Given the description of an element on the screen output the (x, y) to click on. 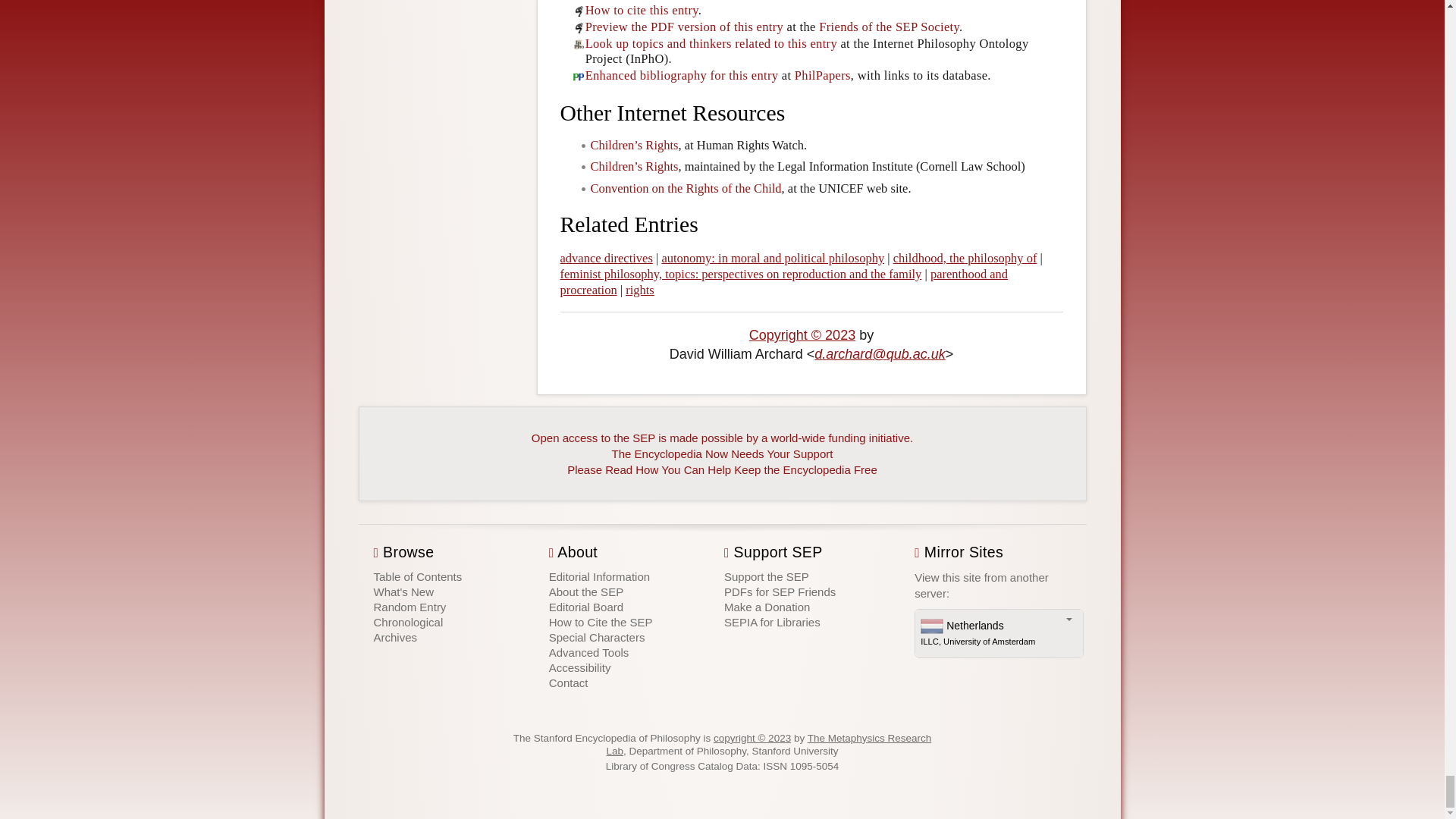
 at  (878, 353)
